Given the description of an element on the screen output the (x, y) to click on. 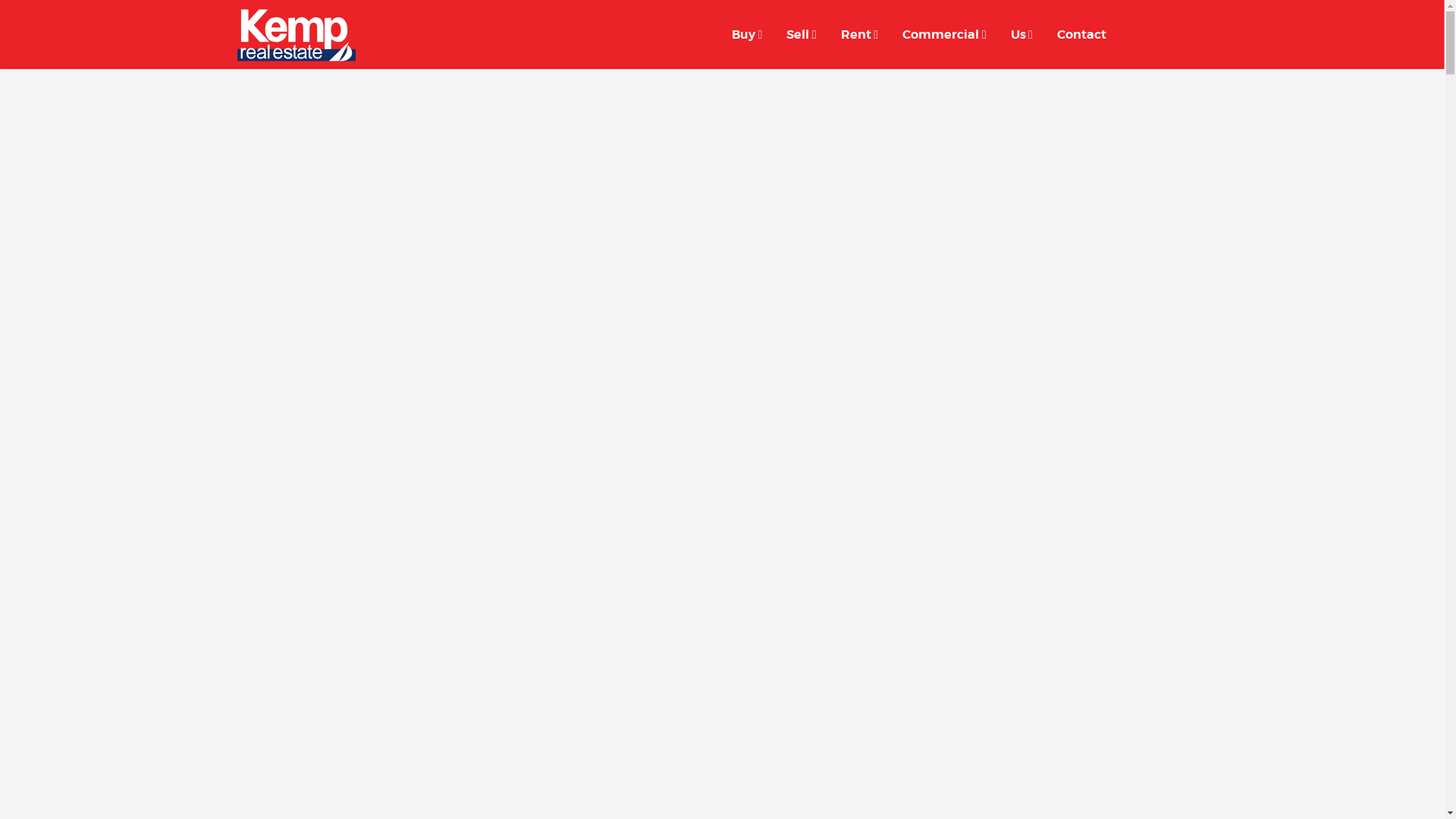
Commercial Element type: text (943, 34)
Buy Element type: text (746, 34)
Rent Element type: text (859, 34)
Us Element type: text (1021, 34)
Contact Element type: text (1081, 34)
Sell Element type: text (800, 34)
